Given the description of an element on the screen output the (x, y) to click on. 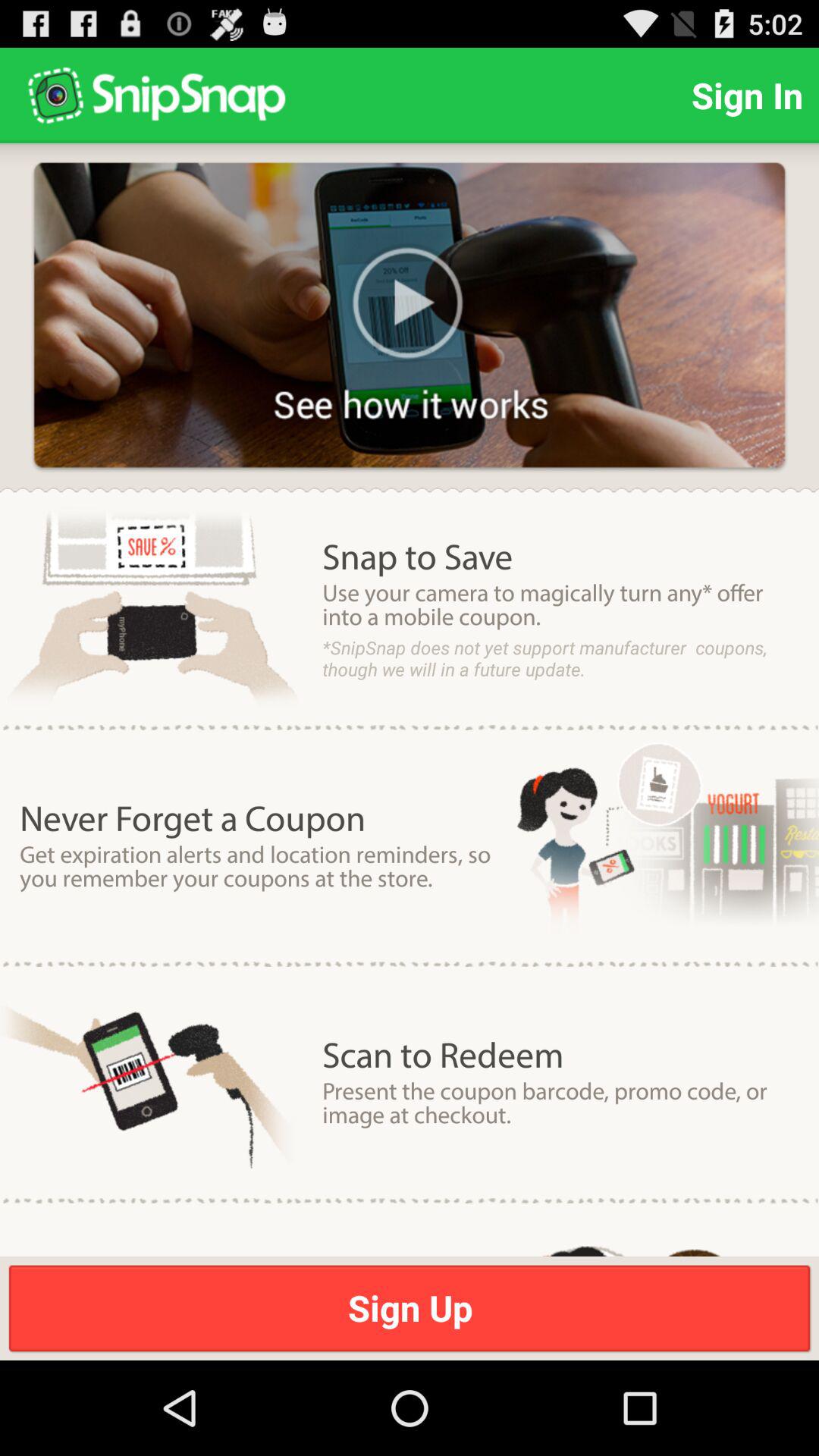
press the sign in at the top right corner (747, 95)
